Given the description of an element on the screen output the (x, y) to click on. 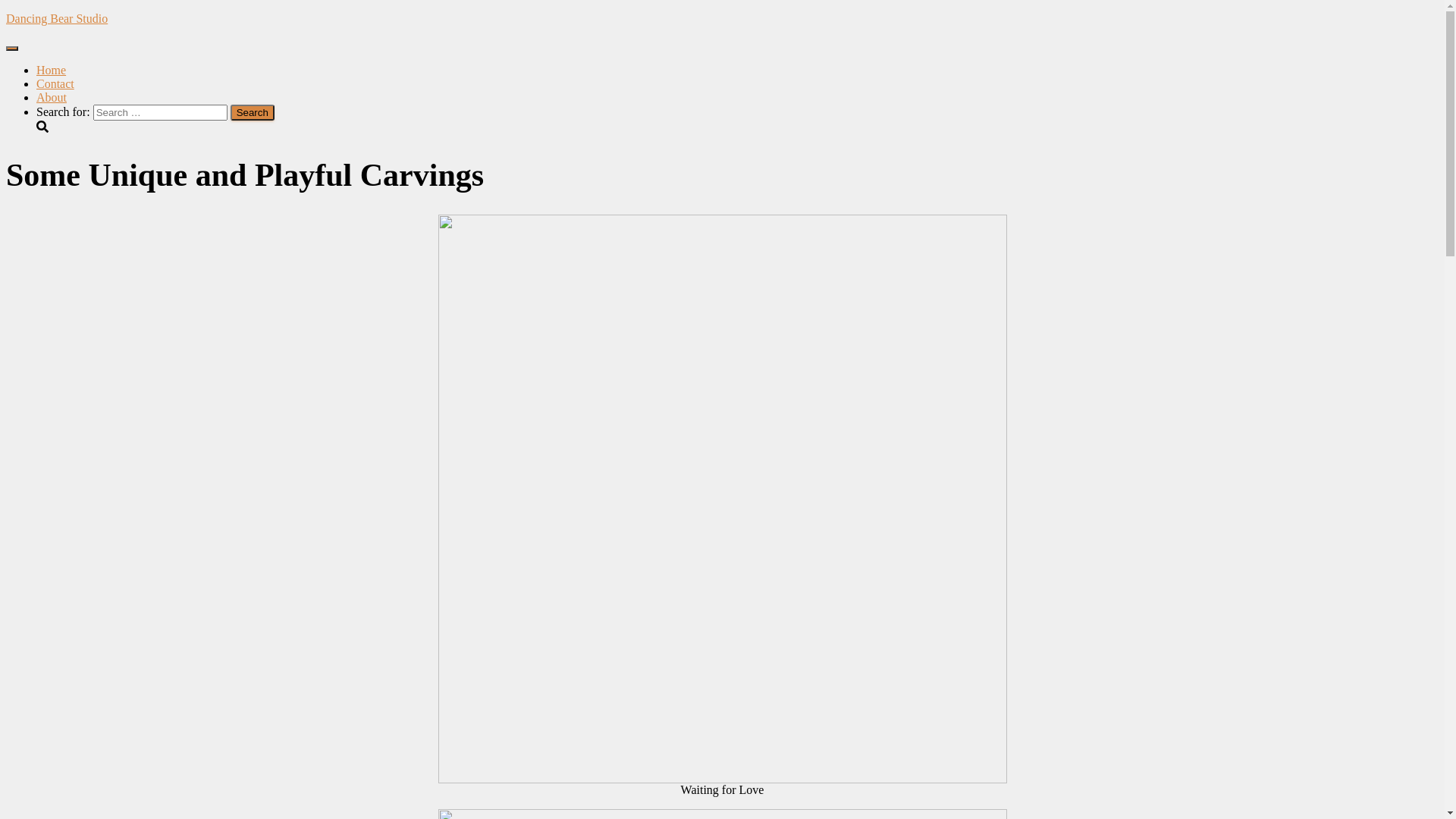
About Element type: text (51, 97)
Dancing Bear Studio Element type: text (722, 18)
Search Element type: text (252, 112)
Home Element type: text (50, 69)
Toggle Navigation Element type: text (12, 48)
Contact Element type: text (55, 83)
